Given the description of an element on the screen output the (x, y) to click on. 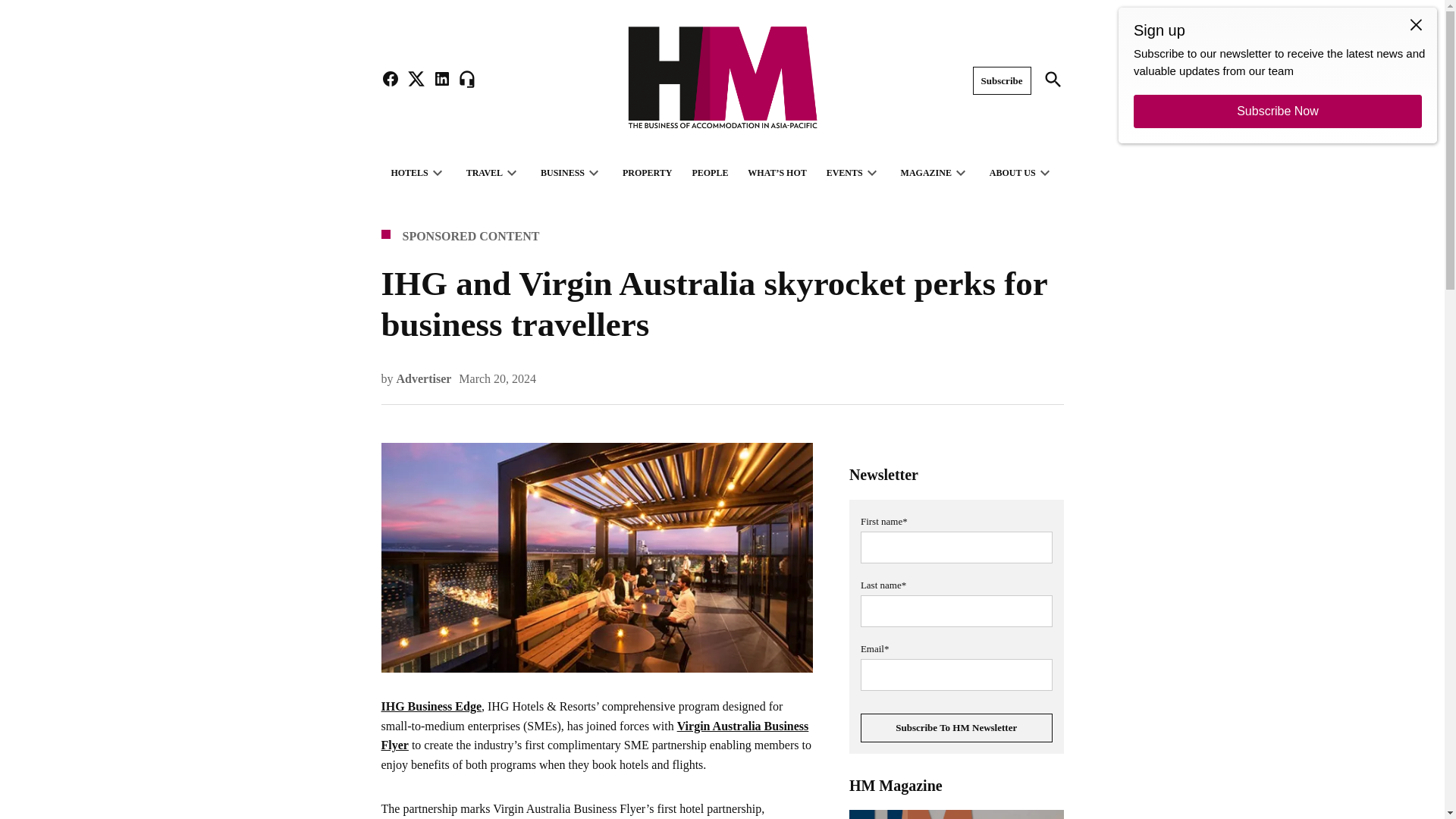
Popup CTA (1277, 75)
Subscribe to HM Newsletter (956, 727)
